Given the description of an element on the screen output the (x, y) to click on. 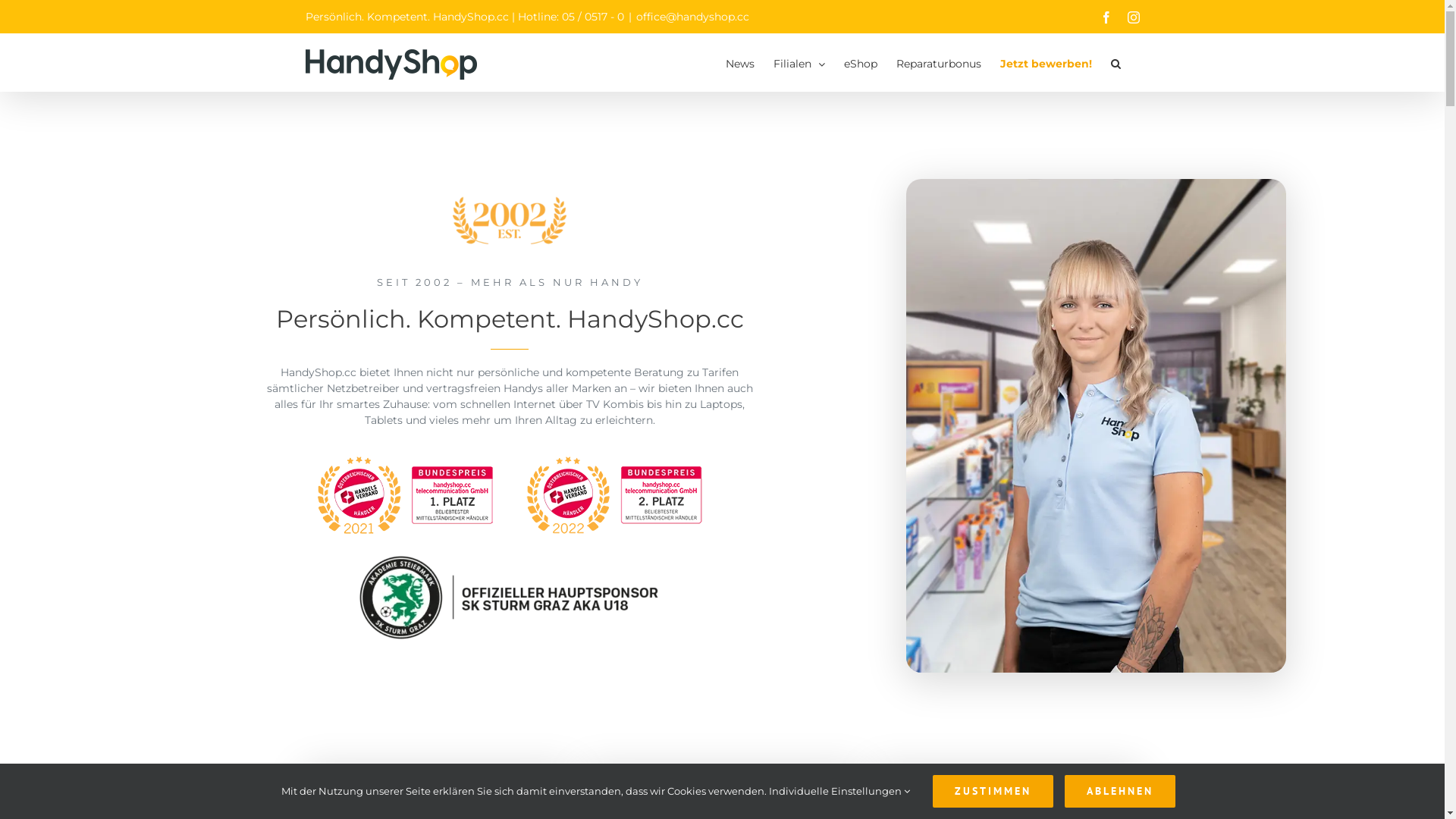
bundespreis_2022_opt Element type: hover (614, 495)
Reparaturbonus Element type: text (938, 62)
ABLEHNEN Element type: text (1119, 791)
News Element type: text (738, 62)
office@handyshop.cc Element type: text (691, 16)
Instagram Element type: text (1132, 16)
Suche Element type: hover (1115, 62)
Filialen Element type: text (799, 62)
2002 Element type: hover (509, 220)
ZUSTIMMEN Element type: text (992, 791)
bundespreis_2021_opt Element type: hover (404, 495)
Jetzt bewerben! Element type: text (1045, 62)
sturm_sponsor_schwarz Element type: hover (509, 597)
eShop Element type: text (859, 62)
Individuelle Einstellungen Element type: text (839, 790)
Facebook Element type: text (1105, 16)
